Given the description of an element on the screen output the (x, y) to click on. 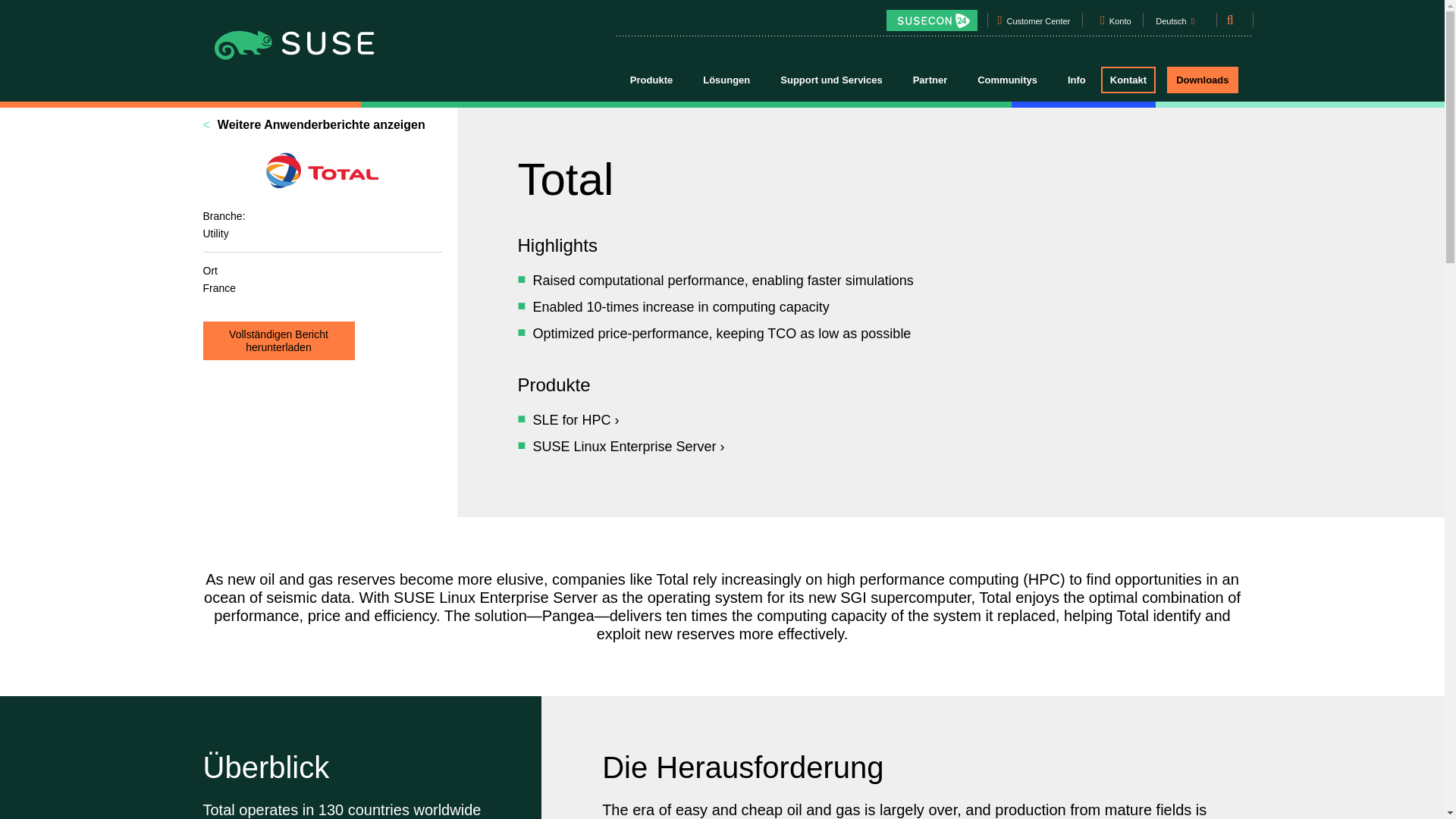
Customer Center (1037, 23)
Konto (1120, 23)
Produkte (650, 79)
